Given the description of an element on the screen output the (x, y) to click on. 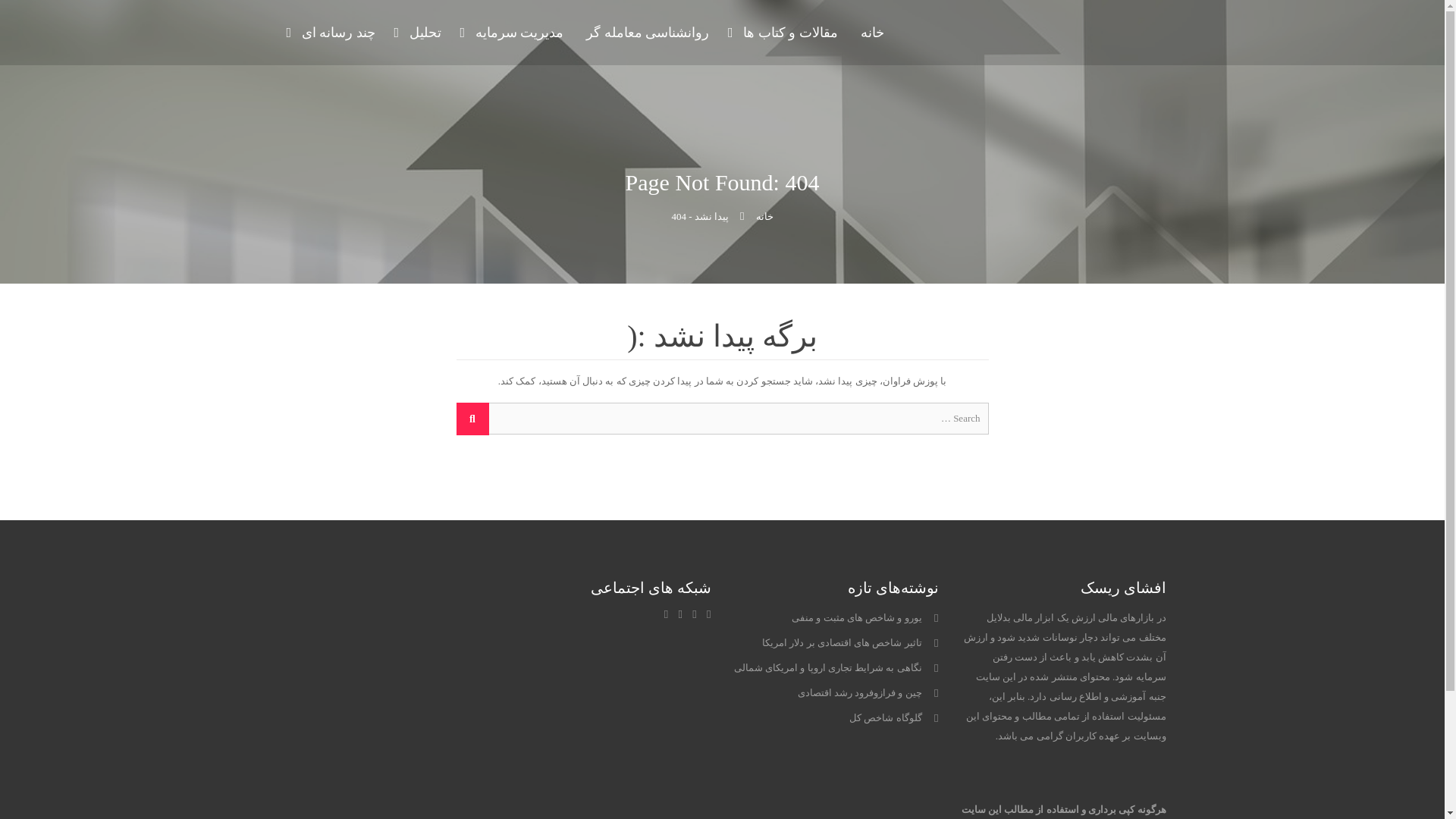
Search (473, 418)
